Given the description of an element on the screen output the (x, y) to click on. 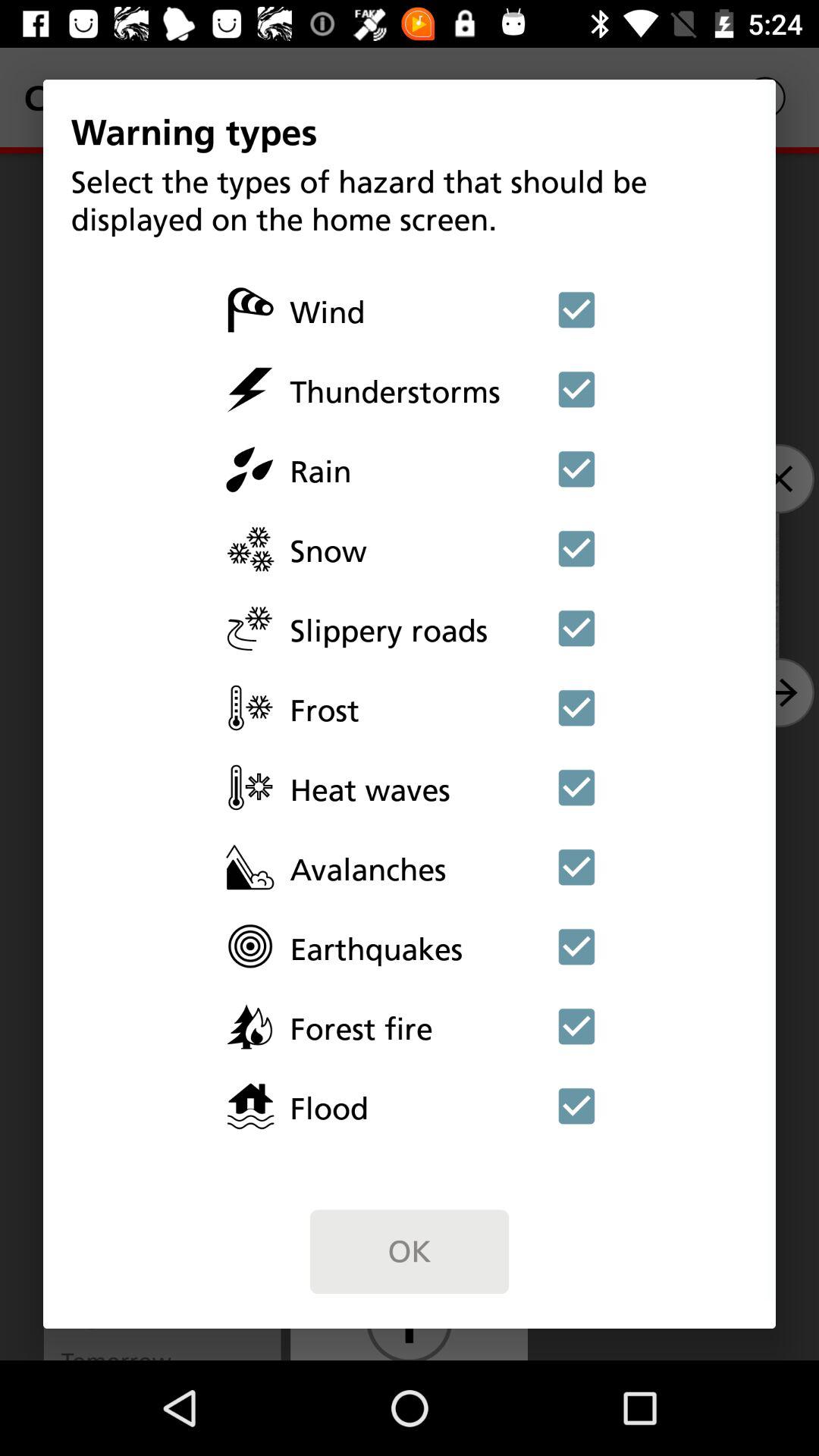
toggle avalanches (576, 867)
